Given the description of an element on the screen output the (x, y) to click on. 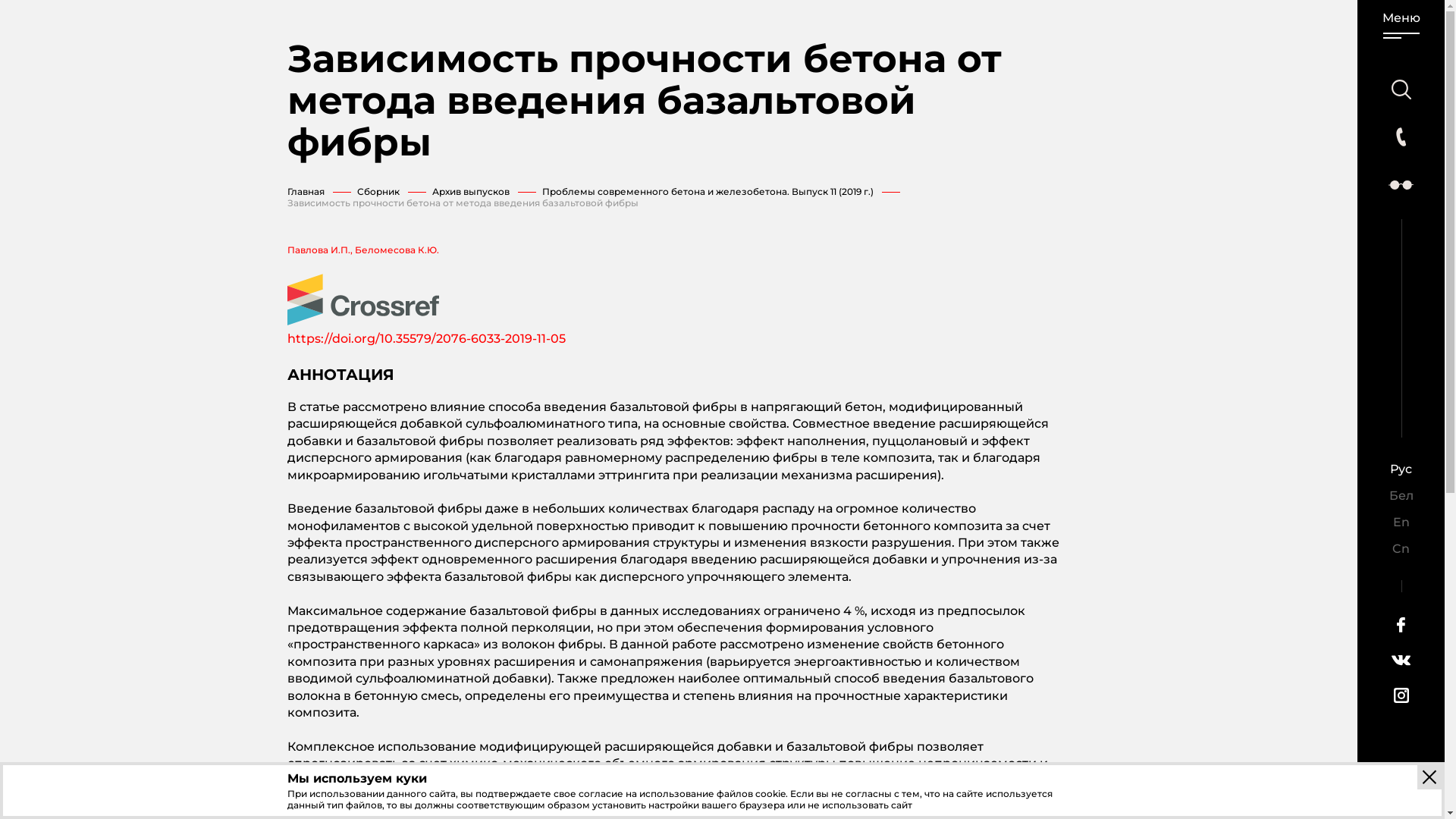
En Element type: text (1400, 521)
https://doi.org/10.35579/2076-6033-2019-11-05 Element type: text (425, 338)
Cn Element type: text (1400, 548)
